Given the description of an element on the screen output the (x, y) to click on. 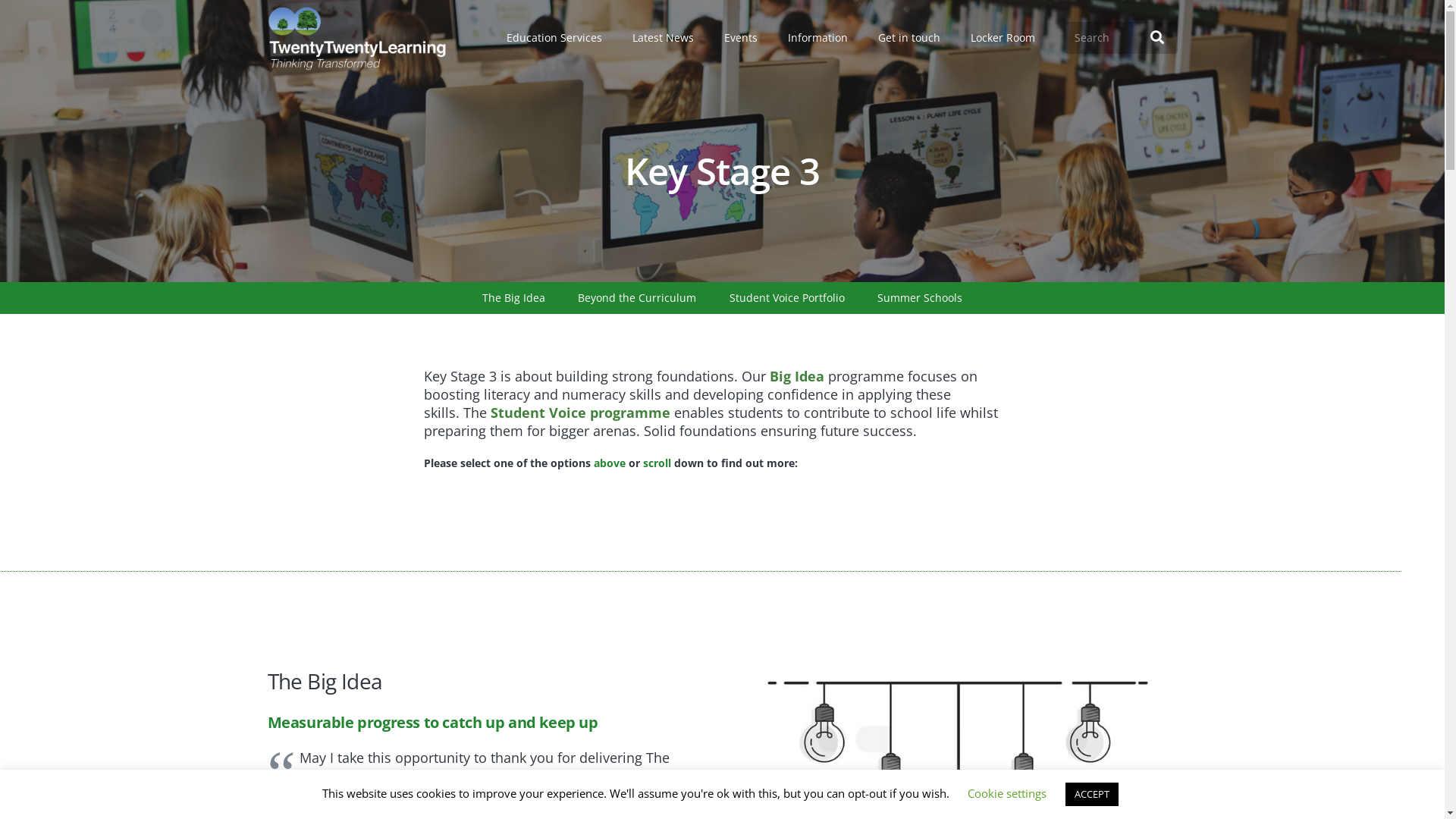
Events Element type: text (740, 37)
Beyond the Curriculum Element type: text (636, 297)
Get in touch Element type: text (908, 37)
Summer Schools Element type: text (919, 297)
Education Services Element type: text (554, 37)
Cookie settings Element type: text (1006, 792)
ACCEPT Element type: text (1091, 794)
Latest News Element type: text (663, 37)
Student Voice Portfolio Element type: text (786, 297)
Locker Room Element type: text (1002, 37)
Information Element type: text (817, 37)
The Big Idea Element type: text (513, 297)
